Given the description of an element on the screen output the (x, y) to click on. 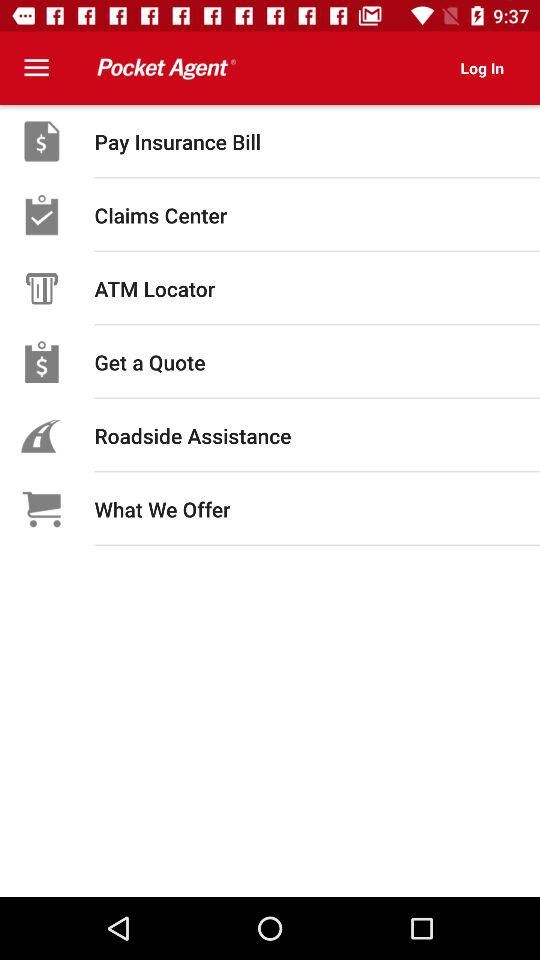
flip until log in (482, 68)
